Given the description of an element on the screen output the (x, y) to click on. 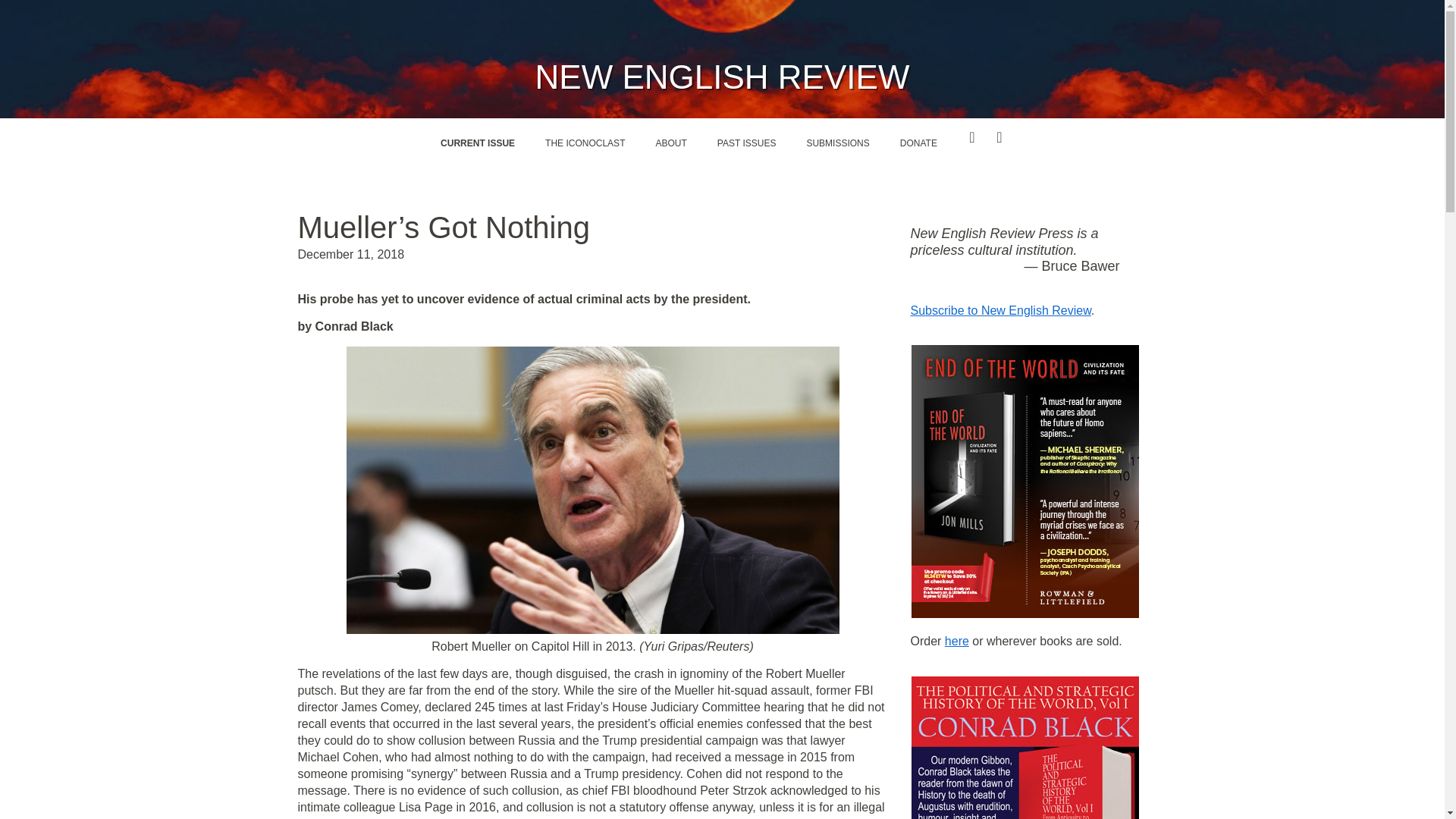
THE ICONOCLAST (584, 143)
PAST ISSUES (746, 143)
DONATE (918, 143)
SUBMISSIONS (836, 143)
CURRENT ISSUE (477, 143)
ABOUT (670, 143)
NEW ENGLISH REVIEW (722, 76)
